Given the description of an element on the screen output the (x, y) to click on. 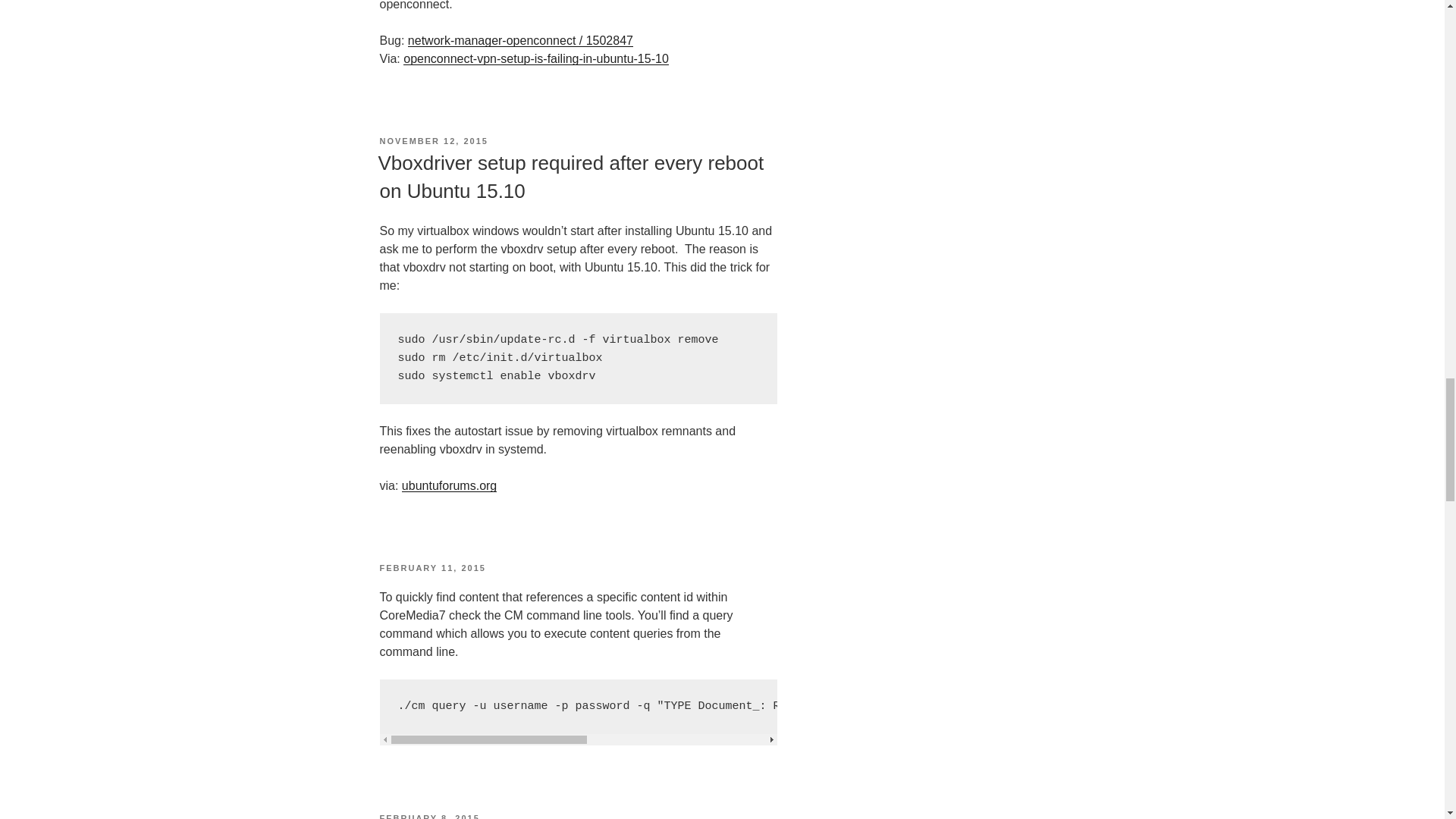
NOVEMBER 12, 2015 (432, 140)
ubuntuforums.org (448, 485)
Vboxdriver setup required after every reboot on Ubuntu 15.10 (569, 176)
FEBRUARY 8, 2015 (428, 816)
openconnect-vpn-setup-is-failing-in-ubuntu-15-10 (535, 58)
FEBRUARY 11, 2015 (431, 567)
